Given the description of an element on the screen output the (x, y) to click on. 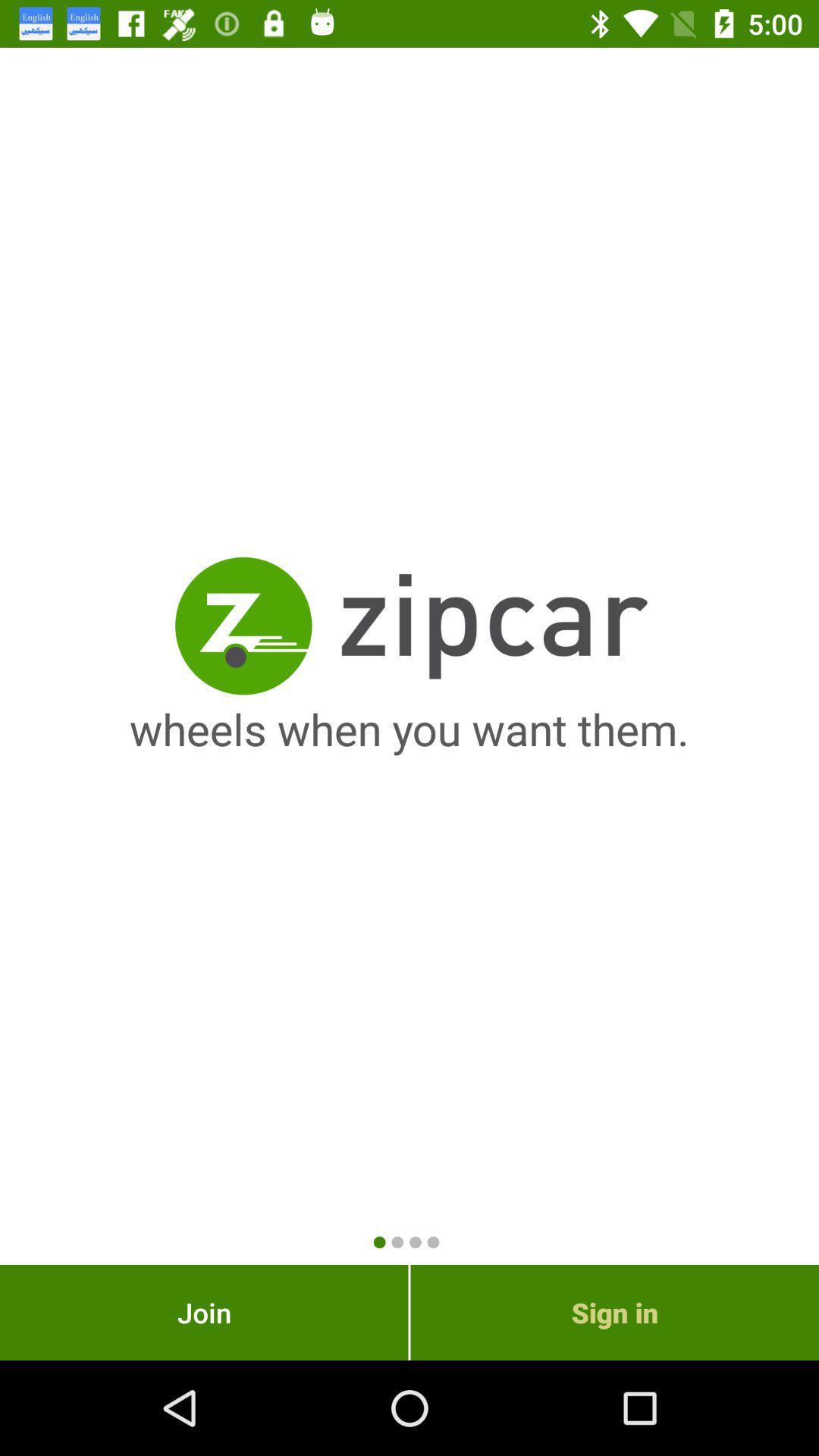
choose icon next to the sign in (204, 1312)
